Given the description of an element on the screen output the (x, y) to click on. 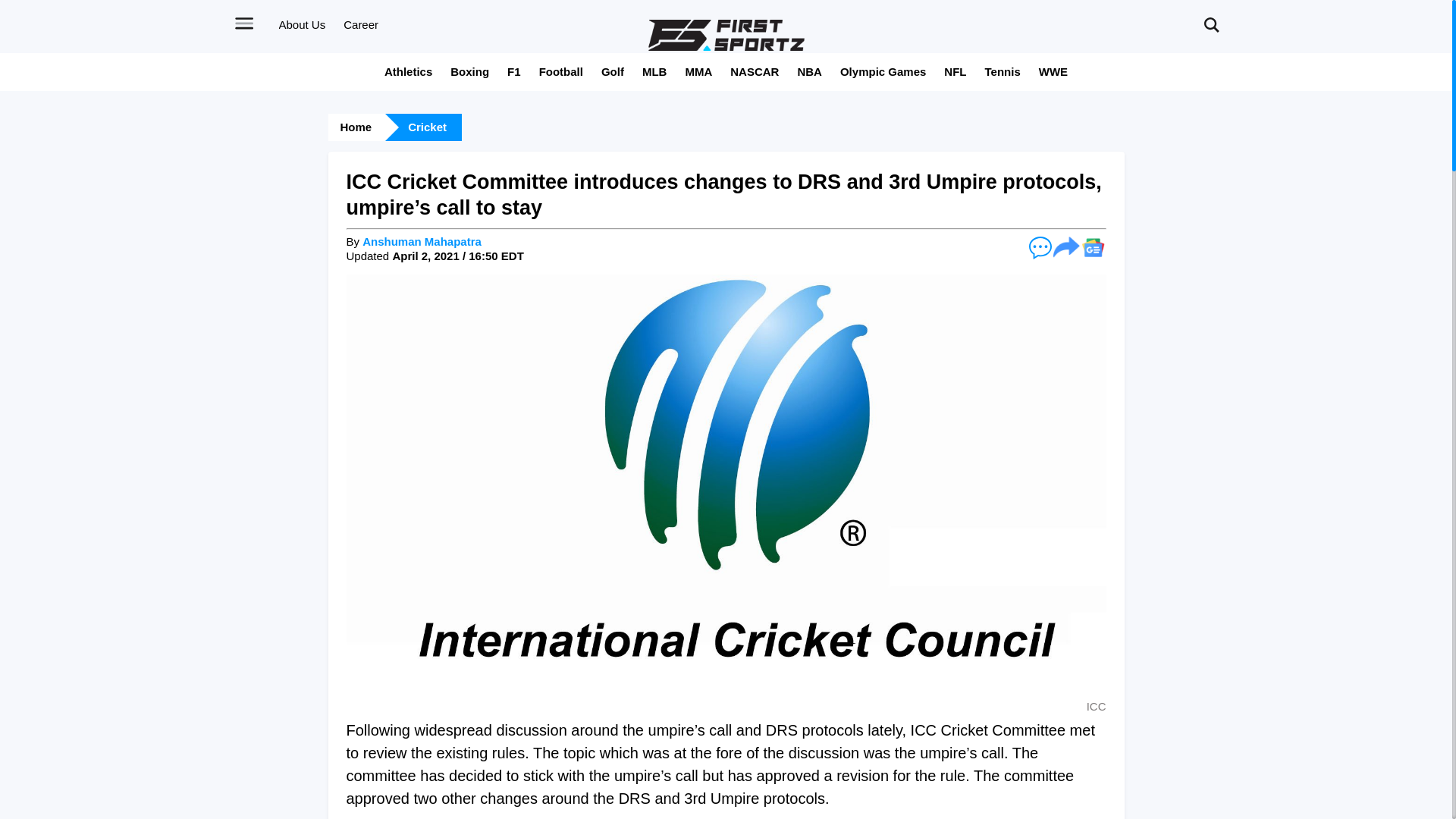
NBA (809, 71)
Olympic Games (883, 71)
MMA (697, 71)
Boxing (469, 71)
Football (560, 71)
About Us (302, 24)
Tennis (1002, 71)
Golf (612, 71)
F1 (513, 71)
FirstSportz (726, 35)
WWE (1053, 71)
Career (360, 24)
NFL (954, 71)
Athletics (408, 71)
MLB (654, 71)
